Given the description of an element on the screen output the (x, y) to click on. 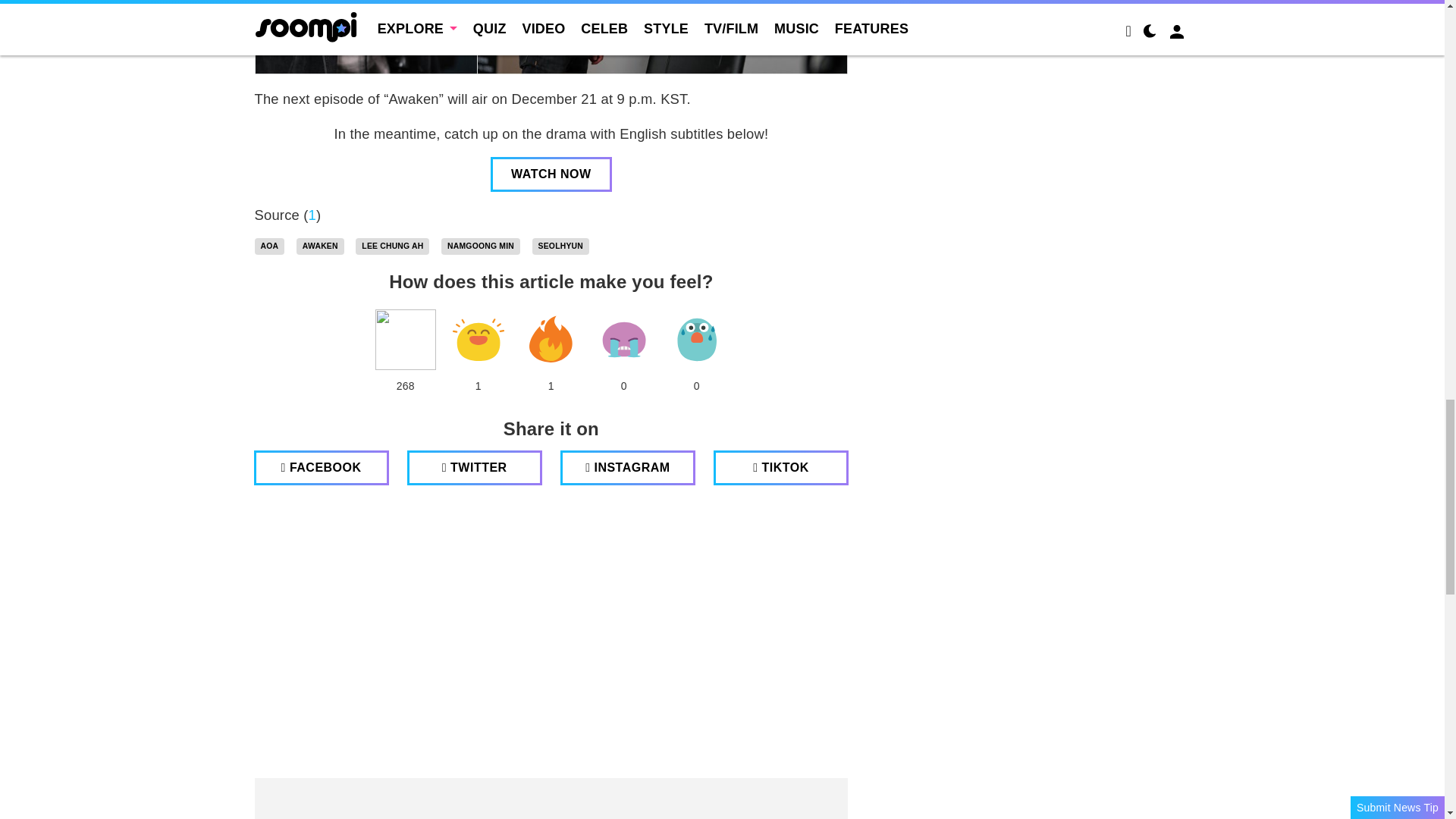
LOL (478, 339)
WATCH NOW (550, 174)
AOA (269, 246)
LEE CHUNG AH (392, 246)
NAMGOONG MIN (480, 246)
Awaken (320, 246)
Namgoong Min (480, 246)
OMG (696, 339)
Seolhyun (560, 246)
Crying (623, 339)
